Given the description of an element on the screen output the (x, y) to click on. 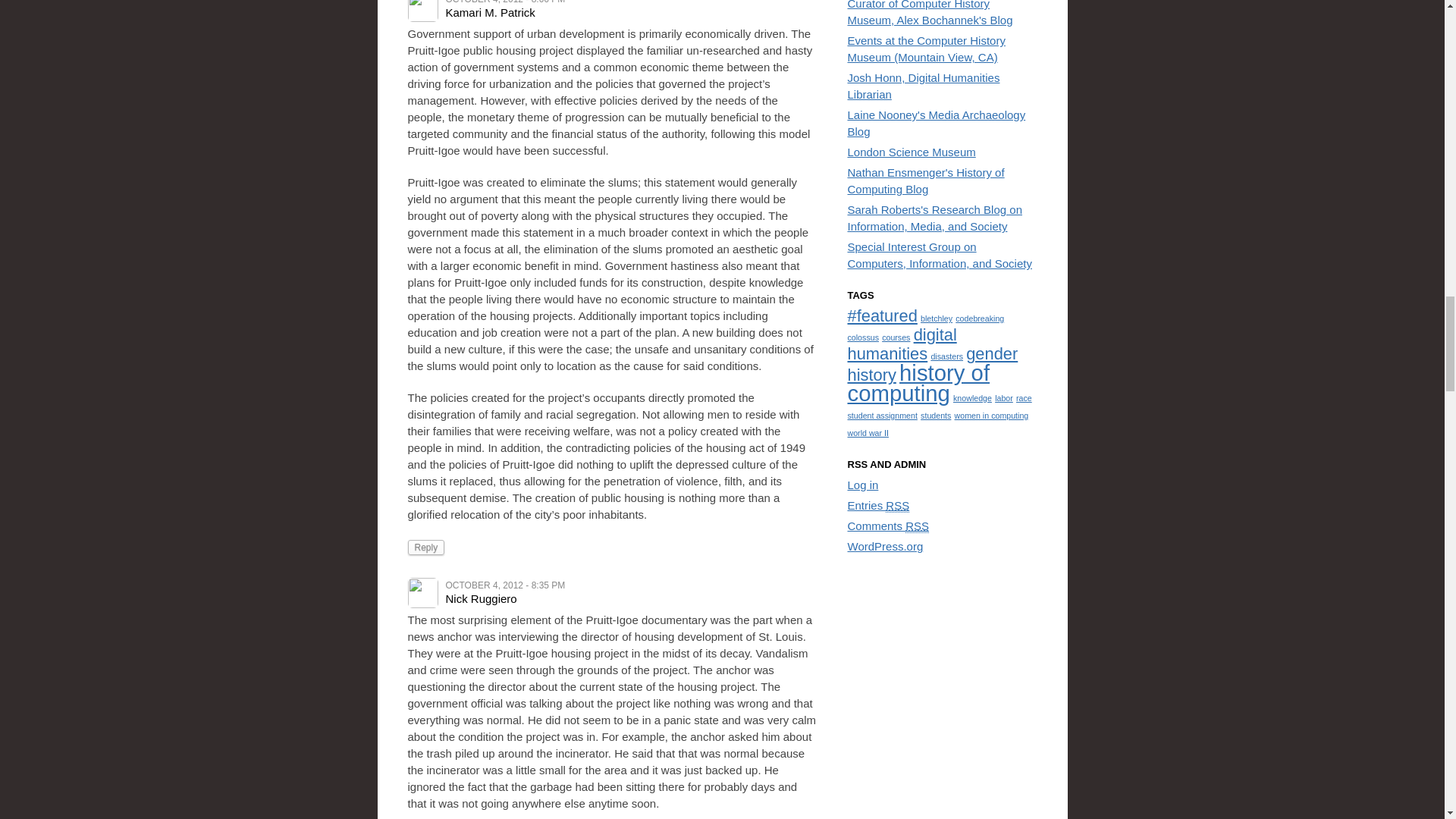
Really Simple Syndication (916, 526)
Group for historians of computing (939, 255)
Reply (426, 547)
Really Simple Syndication (896, 505)
Josh Honn, Digital Humanities Librarian at Northwestern (923, 85)
Sarah Roberts, Library Science graduate student at UIC (935, 217)
upcoming events (926, 48)
OCTOBER 4, 2012 - 8:35 PM (505, 584)
OCTOBER 4, 2012 - 8:06 PM (505, 2)
History of Computing professor at Indiana University (925, 180)
